Given the description of an element on the screen output the (x, y) to click on. 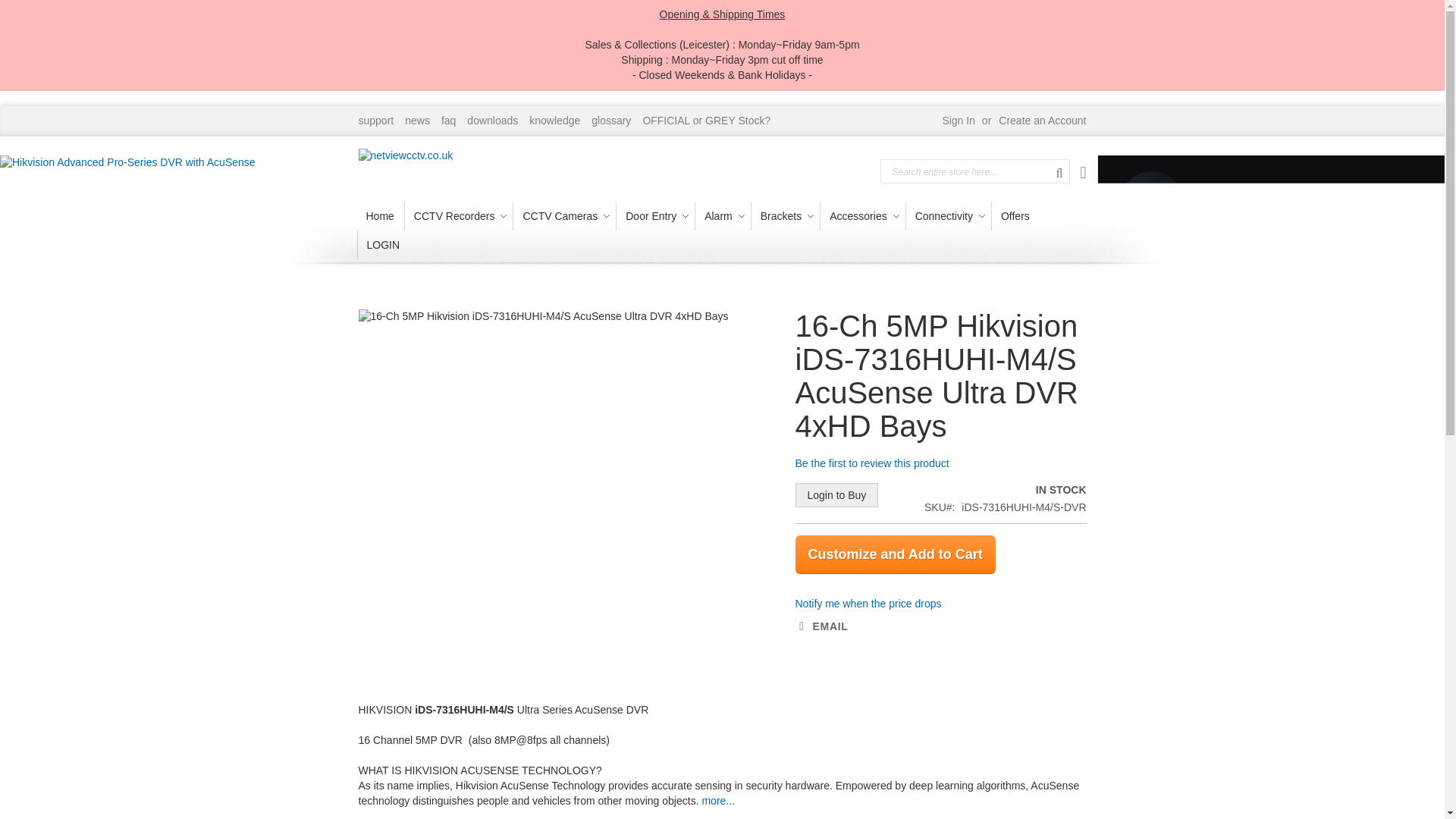
CCTV Recorders (458, 215)
knowledge (554, 120)
news (416, 120)
Notify me when the price drops (867, 603)
Home (379, 215)
Create an Account (1042, 120)
faq (448, 120)
downloads (492, 120)
netviewcctv.co.uk (405, 163)
glossary (610, 120)
